Given the description of an element on the screen output the (x, y) to click on. 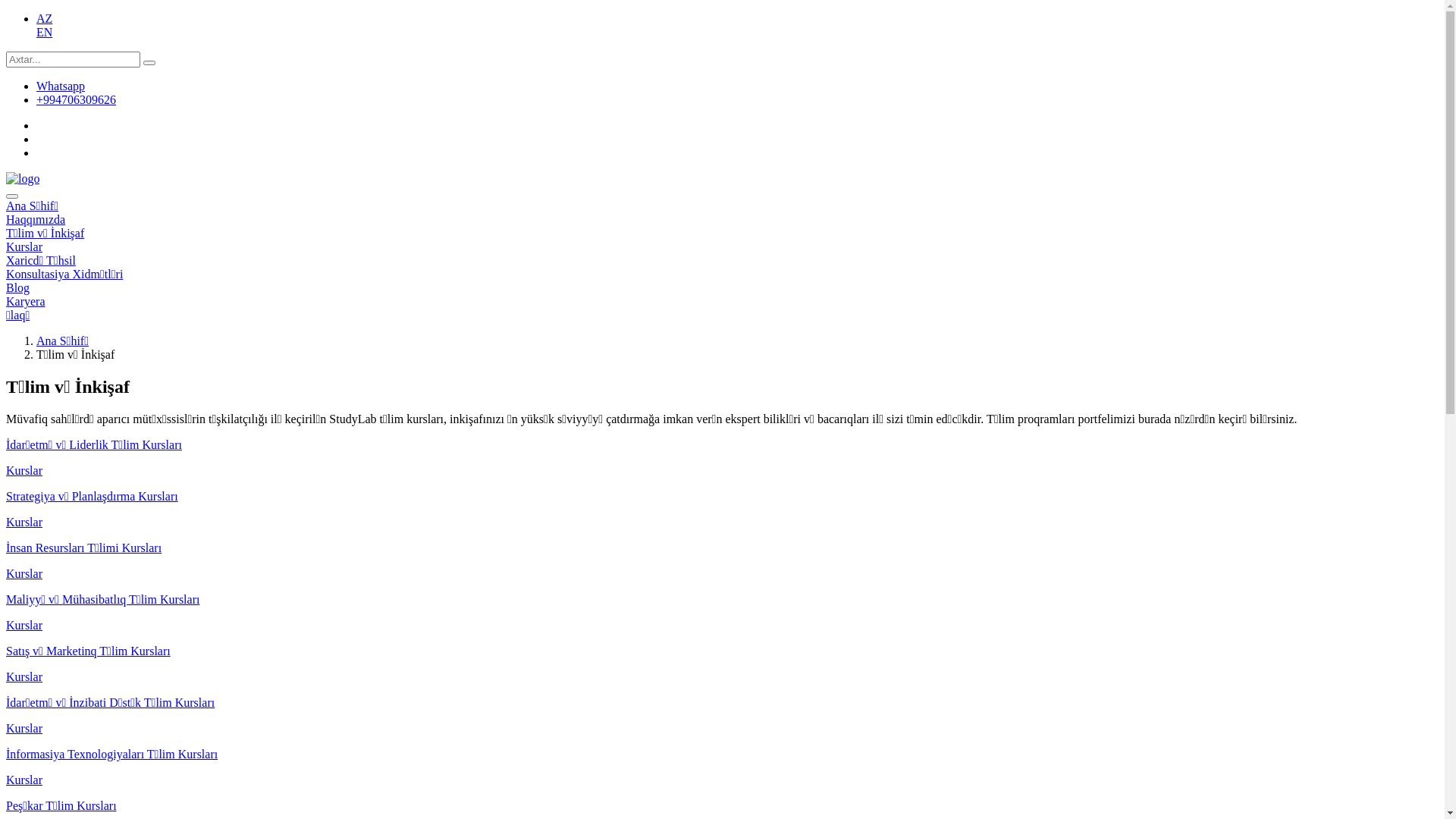
Whatsapp Element type: text (60, 85)
AZ Element type: text (44, 18)
Karyera Element type: text (25, 300)
+994706309626 Element type: text (76, 99)
EN Element type: text (44, 31)
Kurslar Element type: text (24, 246)
Blog Element type: text (17, 287)
